Given the description of an element on the screen output the (x, y) to click on. 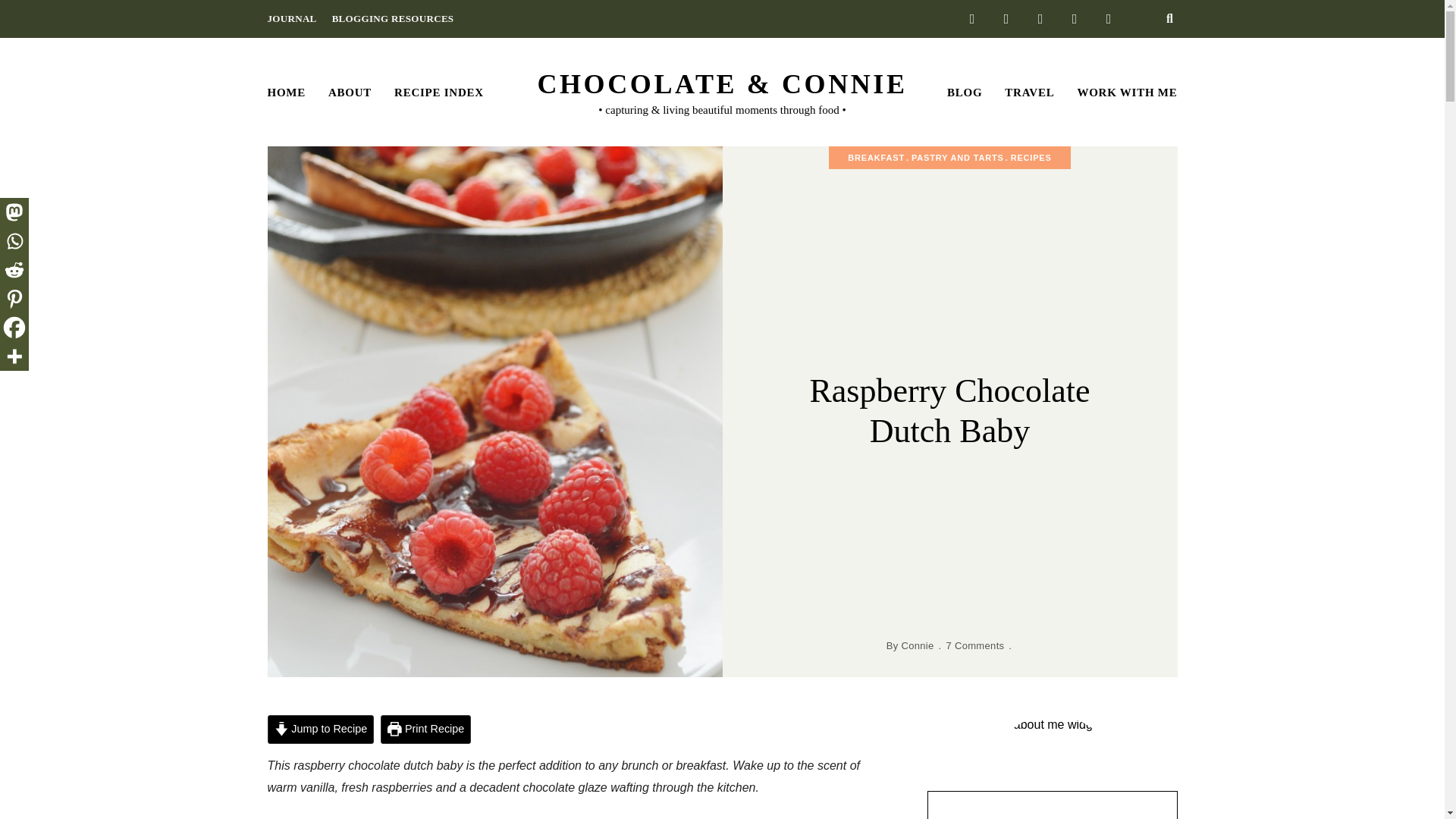
JOURNAL (290, 18)
HOME (286, 92)
PASTRY AND TARTS (960, 157)
Connie (917, 645)
Jump to Recipe (320, 728)
Facebook (14, 327)
RECIPE INDEX (438, 92)
Facebook (972, 18)
Pinterest (14, 298)
Youtube (1108, 18)
